Given the description of an element on the screen output the (x, y) to click on. 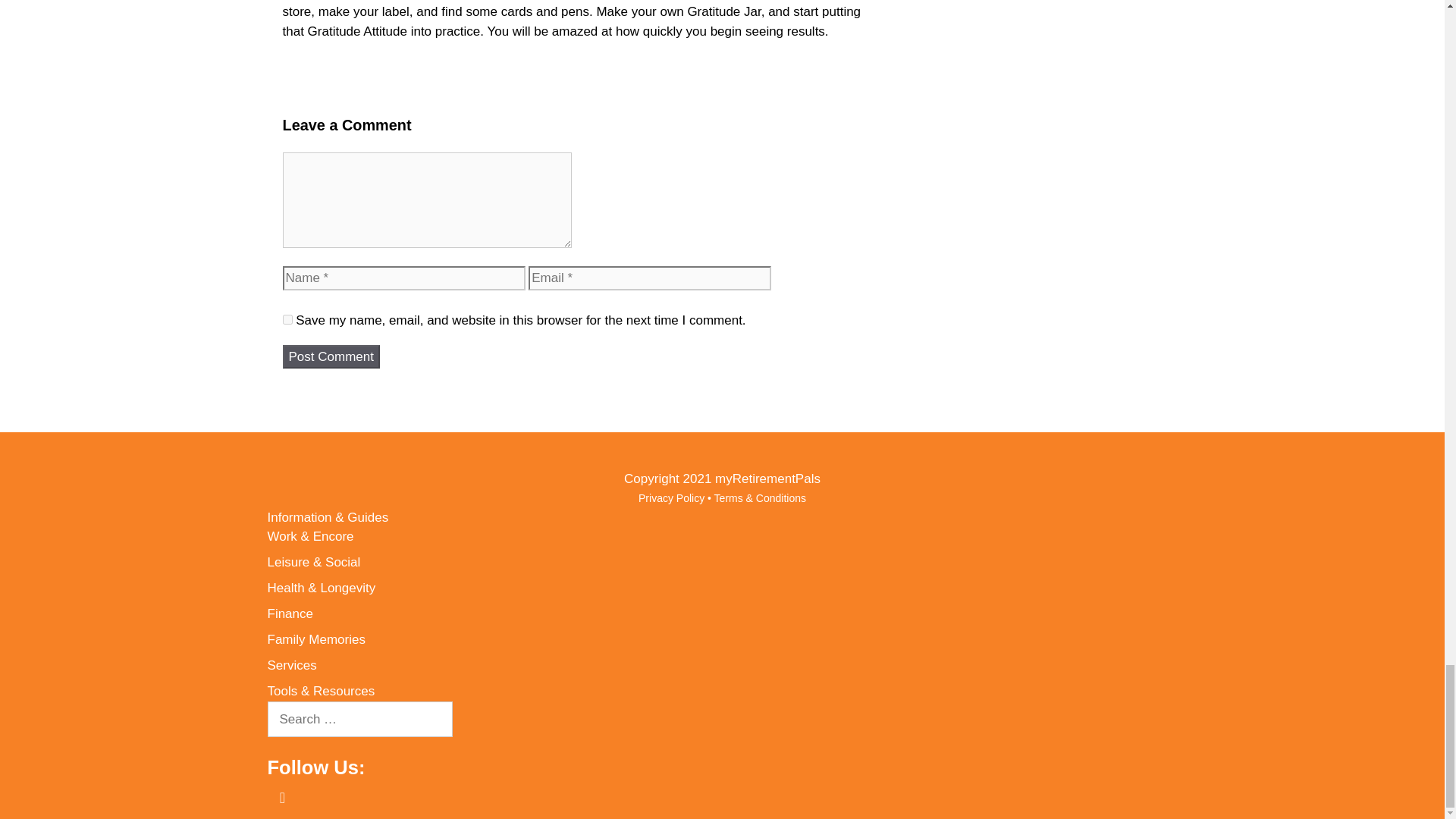
Post Comment (330, 356)
LinkedIn (317, 790)
Pinterest (281, 797)
Services (290, 665)
Privacy Policy (671, 498)
Finance (289, 613)
Search for: (358, 719)
Post Comment (330, 356)
Family Memories (315, 639)
yes (287, 319)
